Given the description of an element on the screen output the (x, y) to click on. 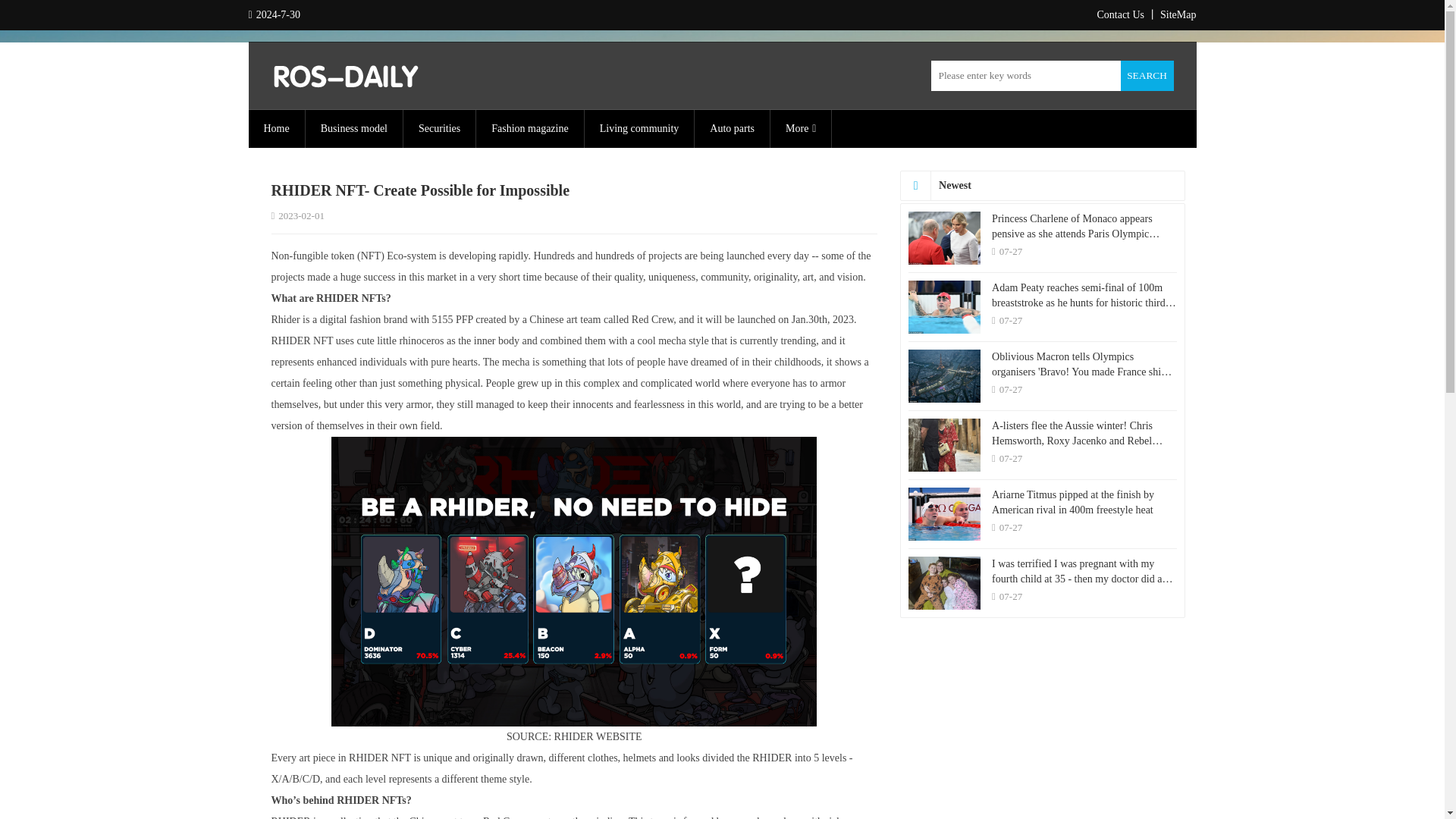
Securities (439, 128)
More (800, 128)
SEARCH (1147, 75)
Fashion magazine (529, 128)
Auto parts (732, 128)
SEARCH (1147, 75)
Contact Us (1120, 14)
Business model (354, 128)
SiteMap (1177, 14)
Living community (639, 128)
Home (276, 128)
